Given the description of an element on the screen output the (x, y) to click on. 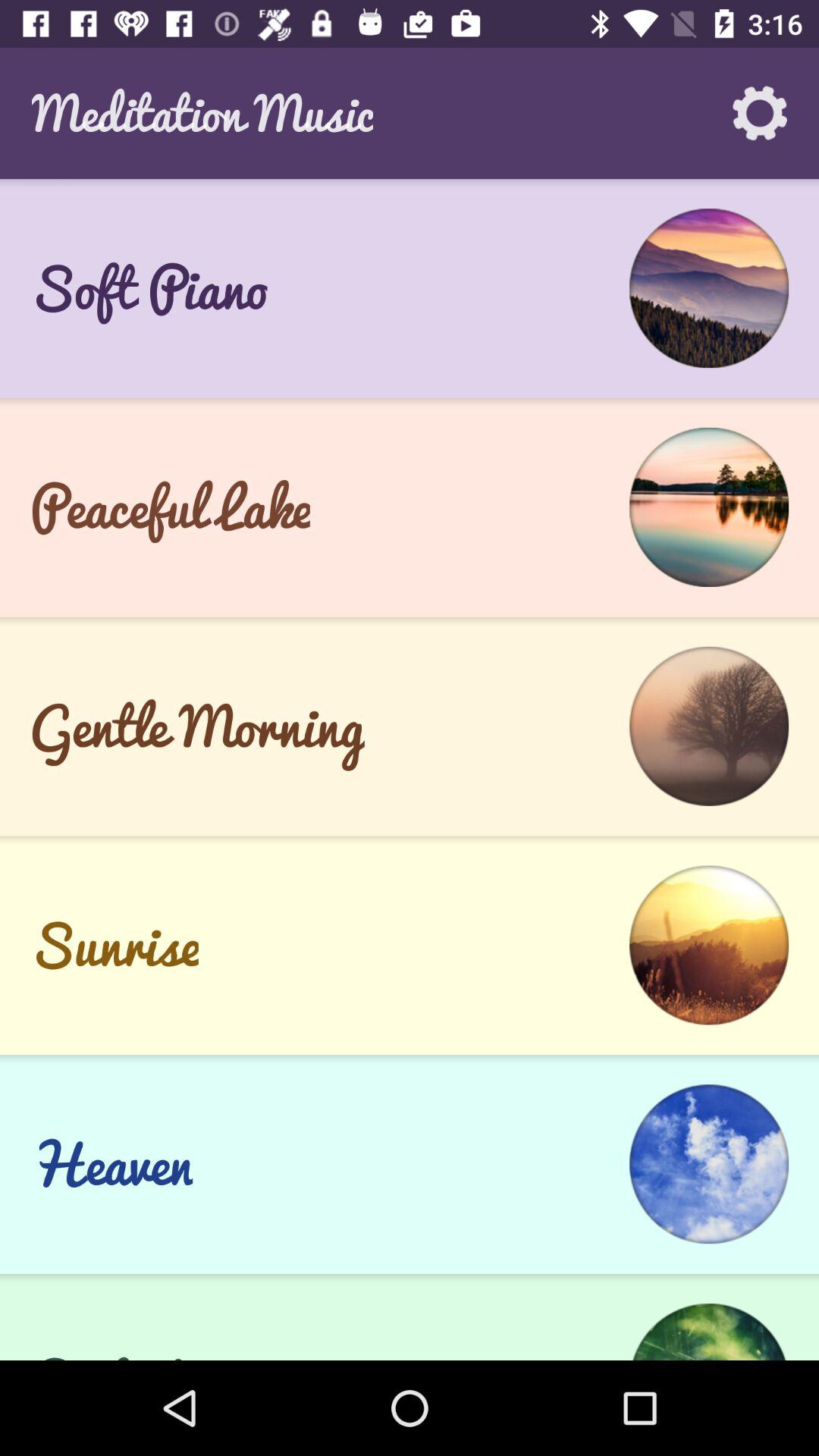
launch the icon next to the meditation music icon (759, 112)
